Given the description of an element on the screen output the (x, y) to click on. 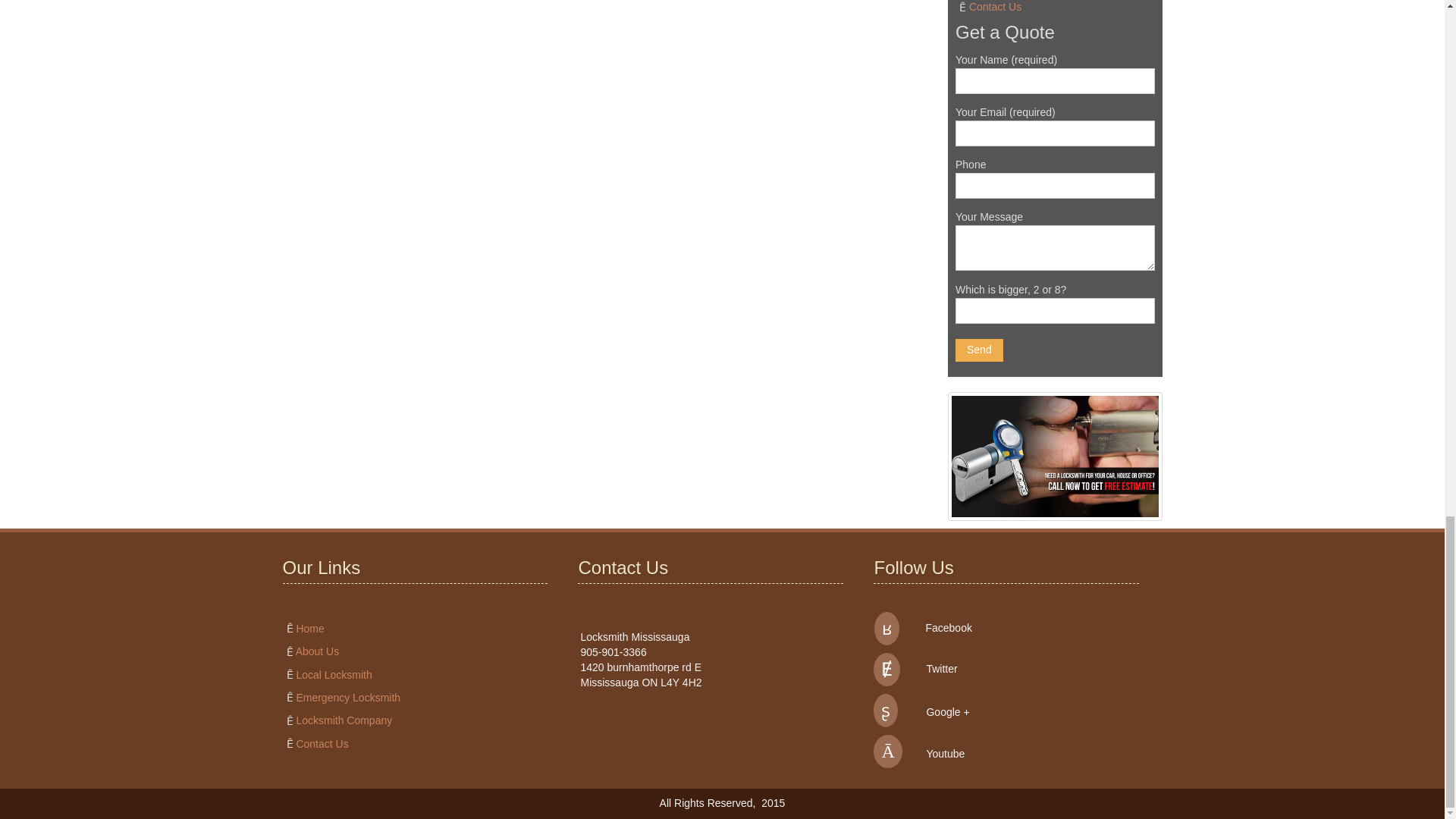
Send (979, 350)
